Given the description of an element on the screen output the (x, y) to click on. 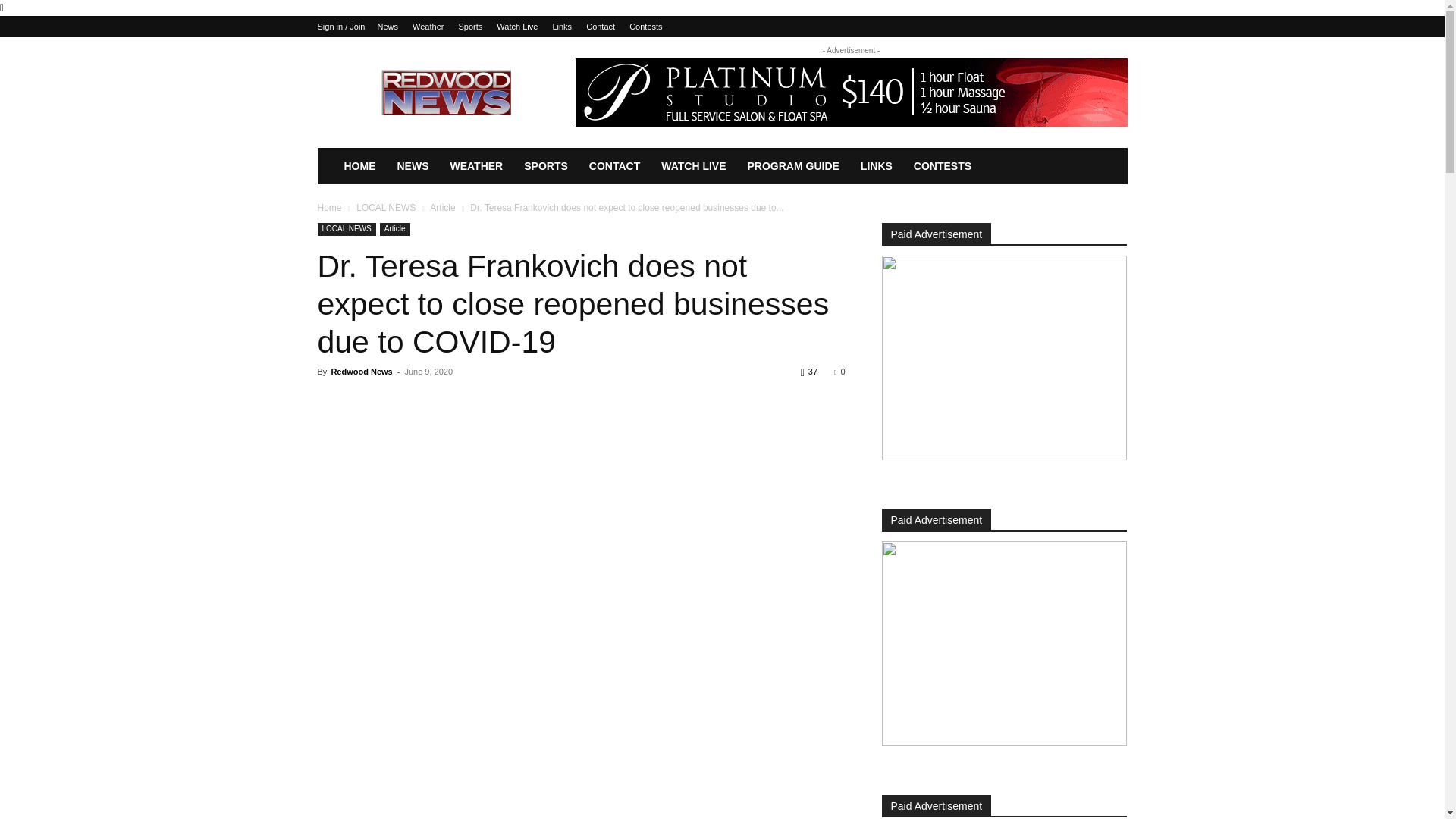
Links (561, 26)
Contact (600, 26)
Sports (469, 26)
View all posts in Article (441, 207)
View all posts in LOCAL NEWS (385, 207)
News (387, 26)
Contests (645, 26)
Weather (428, 26)
Watch Live (516, 26)
